Given the description of an element on the screen output the (x, y) to click on. 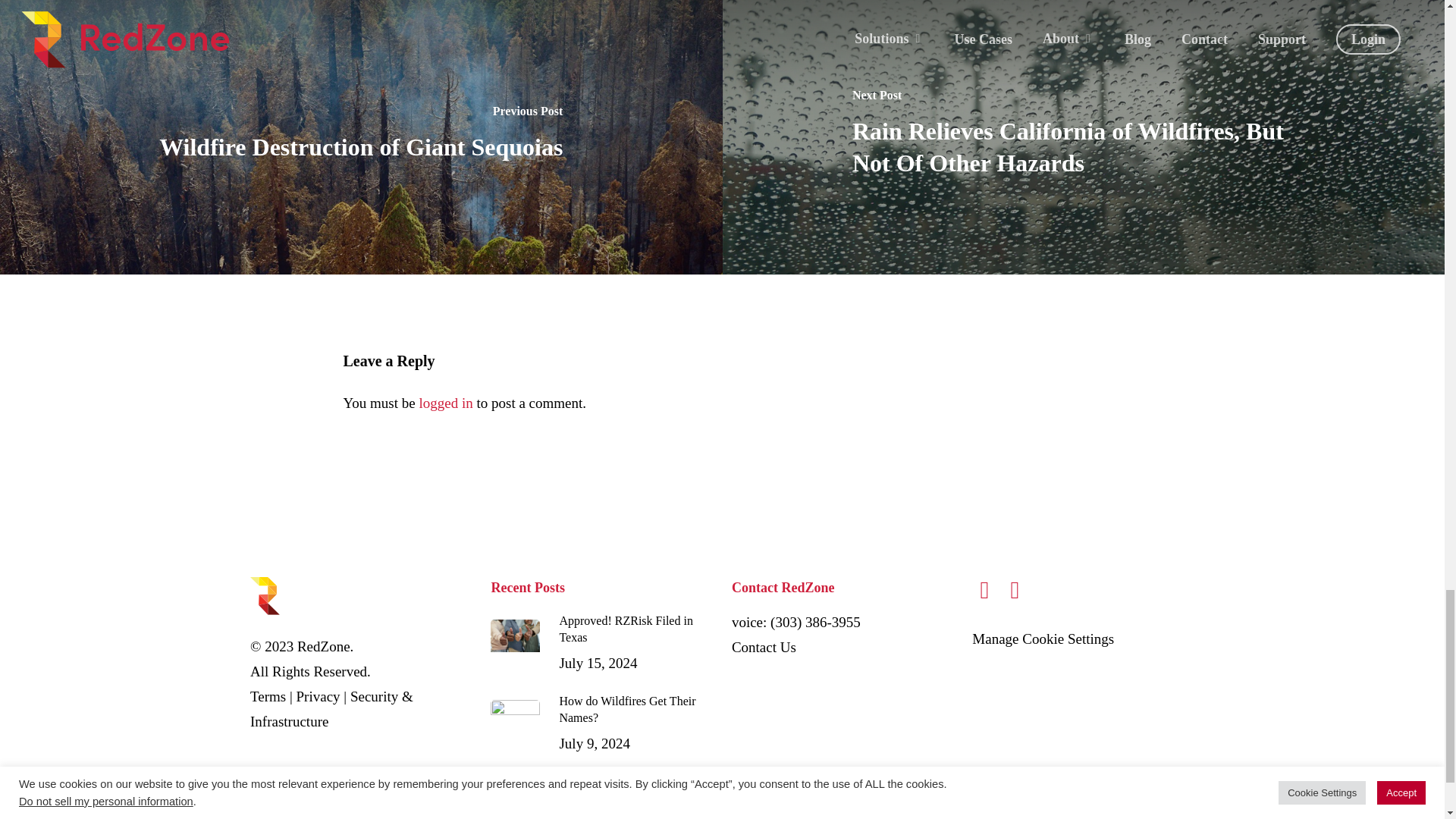
Manage Cookie Settings (1042, 638)
logged in (445, 402)
Contact Form (764, 647)
Terms (601, 723)
Privacy (267, 696)
Contact Us (318, 696)
